Given the description of an element on the screen output the (x, y) to click on. 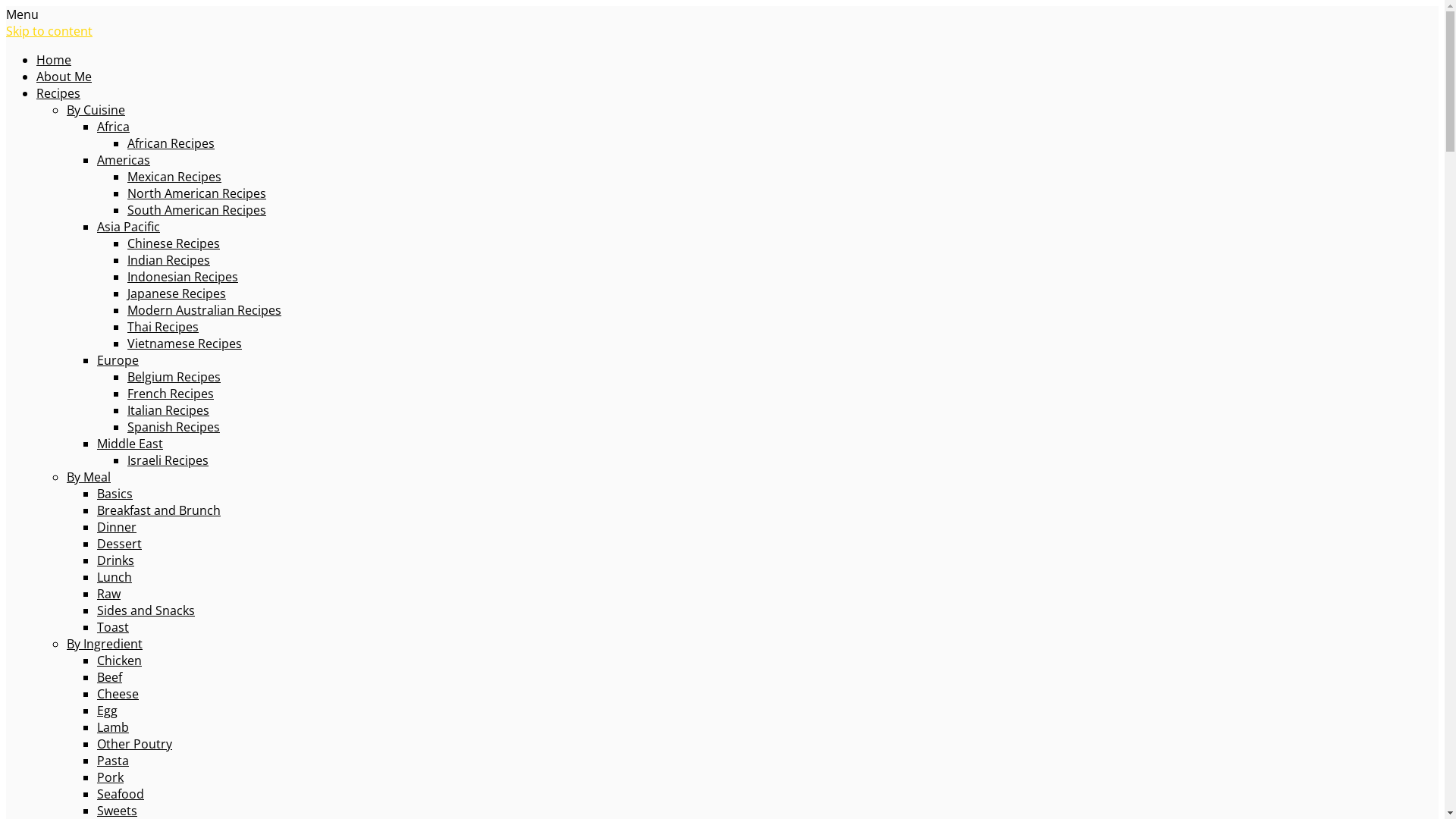
Indian Recipes Element type: text (168, 259)
Middle East Element type: text (130, 443)
Modern Australian Recipes Element type: text (204, 309)
Seafood Element type: text (120, 793)
Africa Element type: text (113, 126)
Pork Element type: text (110, 776)
Cheese Element type: text (117, 693)
Asia Pacific Element type: text (128, 226)
Chinese Recipes Element type: text (173, 243)
Sides and Snacks Element type: text (145, 610)
Other Poutry Element type: text (134, 743)
Toast Element type: text (112, 626)
Thai Recipes Element type: text (162, 326)
By Meal Element type: text (88, 476)
Spanish Recipes Element type: text (173, 426)
By Cuisine Element type: text (95, 109)
Chicken Element type: text (119, 660)
Belgium Recipes Element type: text (173, 376)
Egg Element type: text (107, 710)
Drinks Element type: text (115, 560)
Skip to content Element type: text (49, 30)
Indonesian Recipes Element type: text (182, 276)
French Recipes Element type: text (170, 393)
Italian Recipes Element type: text (168, 409)
South American Recipes Element type: text (196, 209)
Pasta Element type: text (112, 760)
Americas Element type: text (123, 159)
Mexican Recipes Element type: text (174, 176)
North American Recipes Element type: text (196, 193)
About Me Element type: text (63, 76)
Breakfast and Brunch Element type: text (158, 510)
Japanese Recipes Element type: text (176, 293)
Beef Element type: text (109, 676)
By Ingredient Element type: text (104, 643)
Basics Element type: text (114, 493)
Europe Element type: text (117, 359)
Lamb Element type: text (112, 726)
Dessert Element type: text (119, 543)
Raw Element type: text (108, 593)
Recipes Element type: text (58, 92)
Lunch Element type: text (114, 576)
Dinner Element type: text (116, 526)
Vietnamese Recipes Element type: text (184, 343)
Home Element type: text (53, 59)
African Recipes Element type: text (170, 142)
Israeli Recipes Element type: text (167, 459)
